Given the description of an element on the screen output the (x, y) to click on. 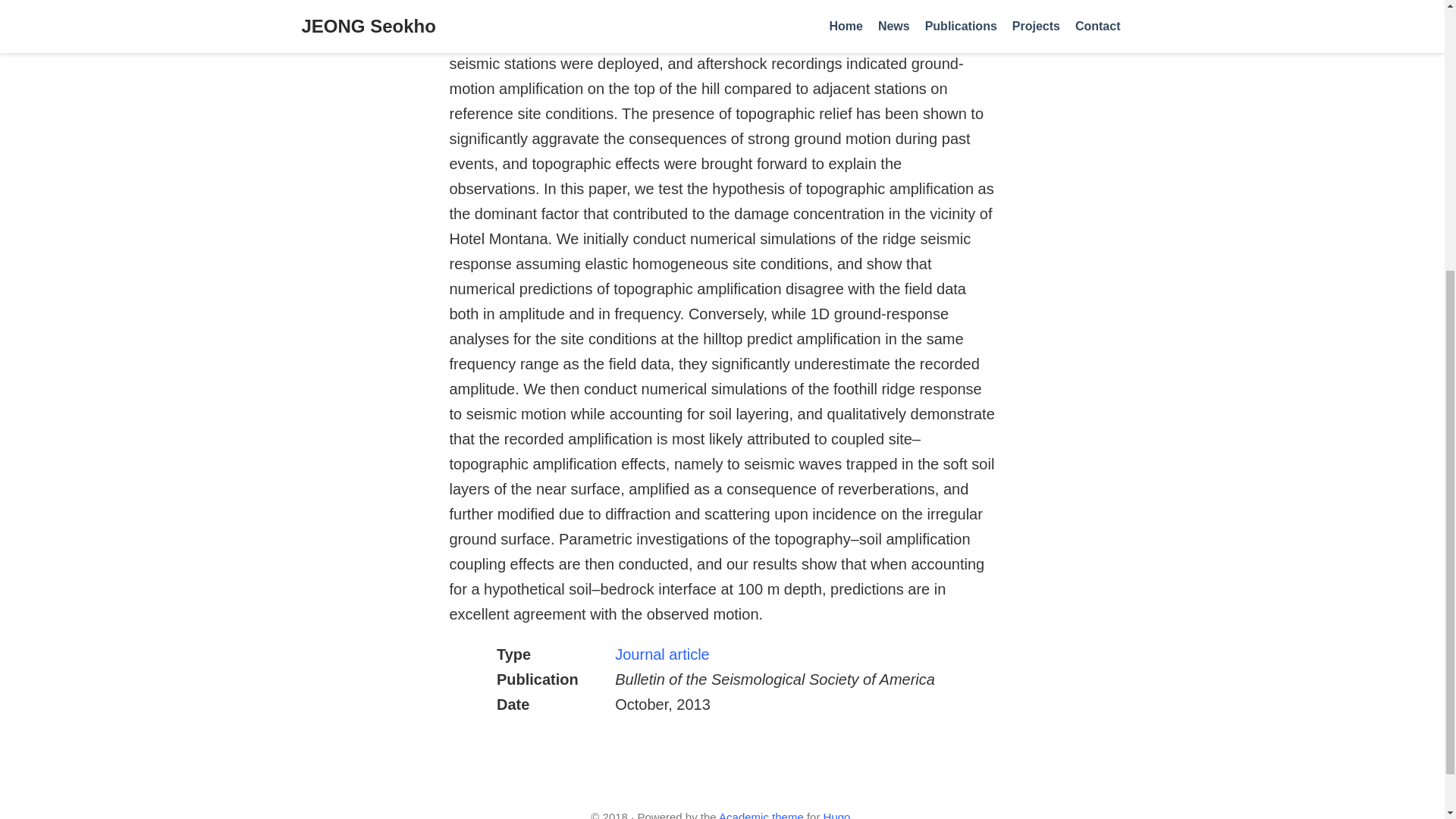
Journal article (662, 654)
